Given the description of an element on the screen output the (x, y) to click on. 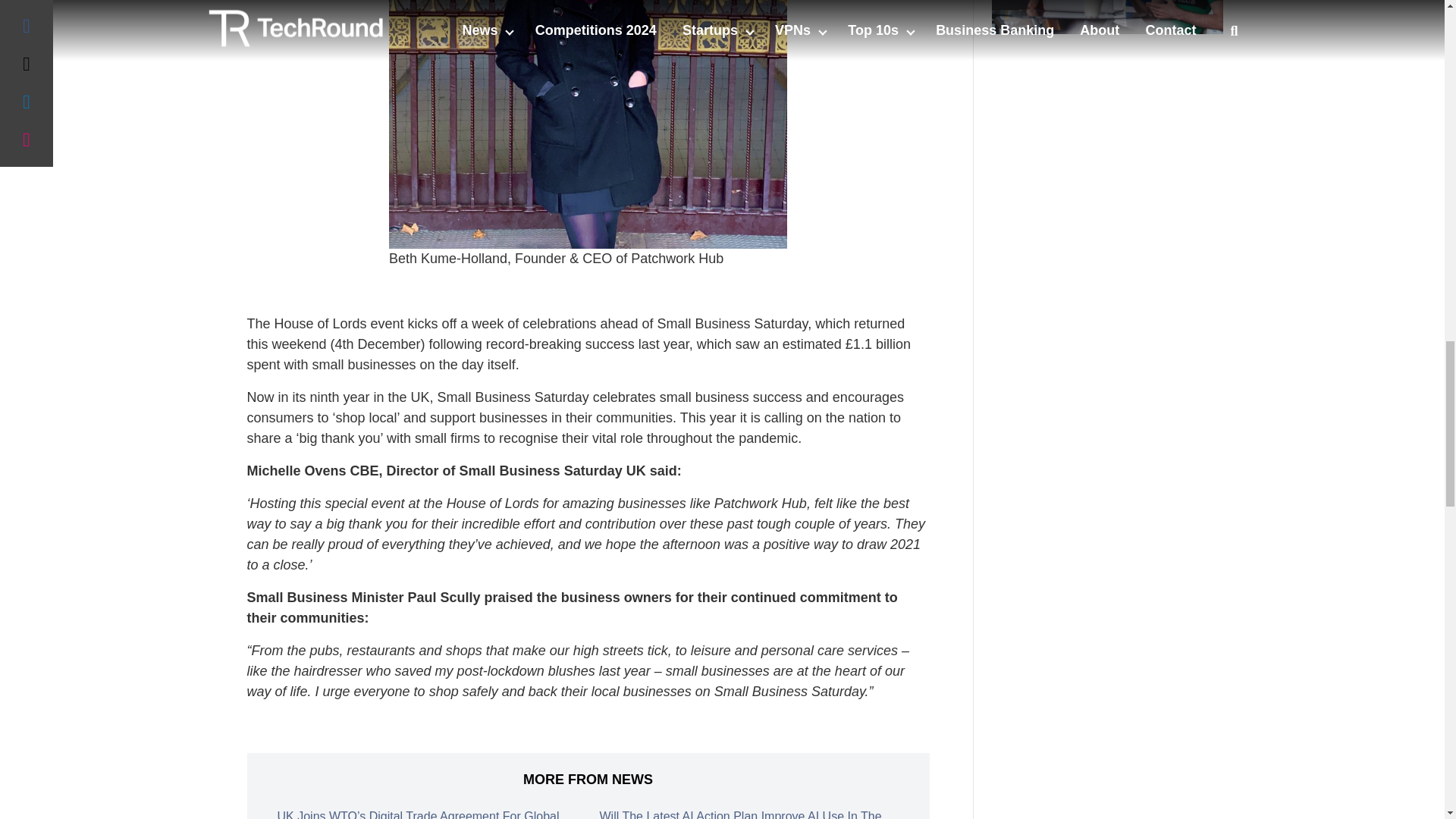
Enter The BAME Top 50 Entrepreneurs - Deadline 10th Nov 2021 (1107, 17)
